Given the description of an element on the screen output the (x, y) to click on. 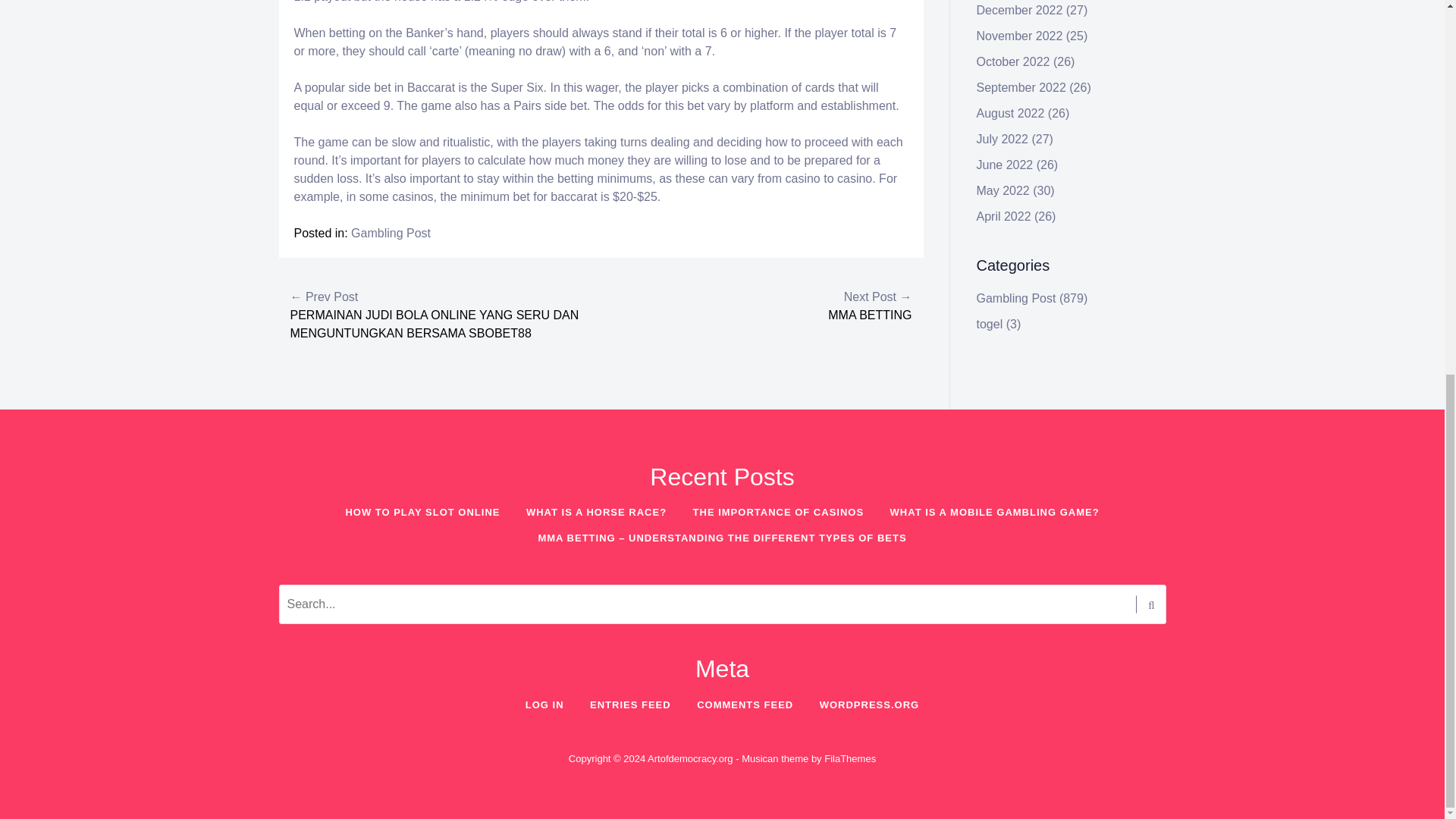
November 2022 (1019, 35)
Artofdemocracy.org (689, 758)
September 2022 (1020, 87)
August 2022 (1010, 113)
October 2022 (1012, 61)
December 2022 (1019, 10)
Gambling Post (390, 232)
July 2022 (1002, 138)
